Given the description of an element on the screen output the (x, y) to click on. 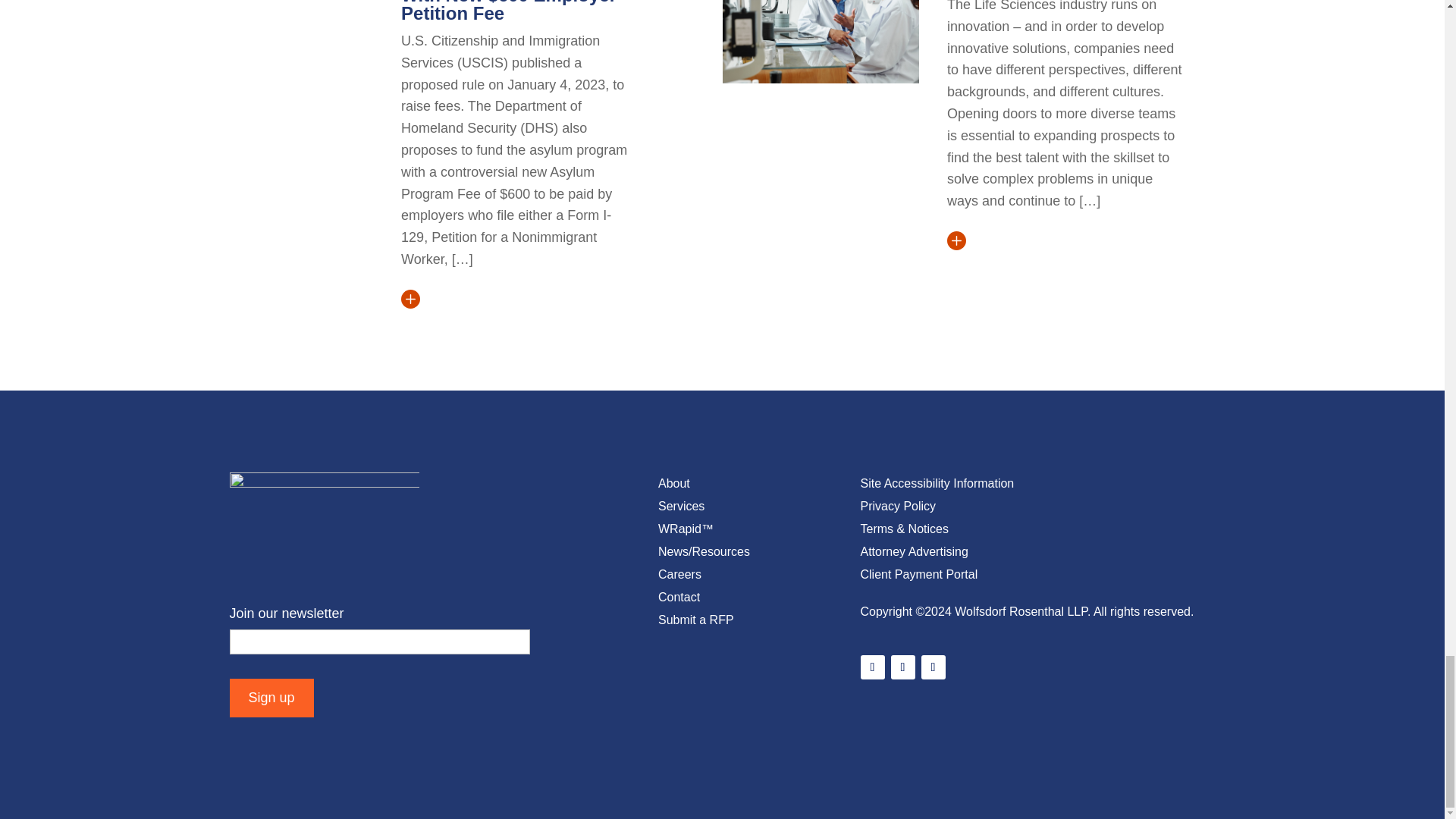
About (674, 486)
Services (681, 509)
Sign up (270, 697)
Follow on Twitter (901, 667)
Sign up (270, 697)
Follow on LinkedIn (871, 667)
Follow on Youtube (932, 667)
Careers (679, 577)
